Given the description of an element on the screen output the (x, y) to click on. 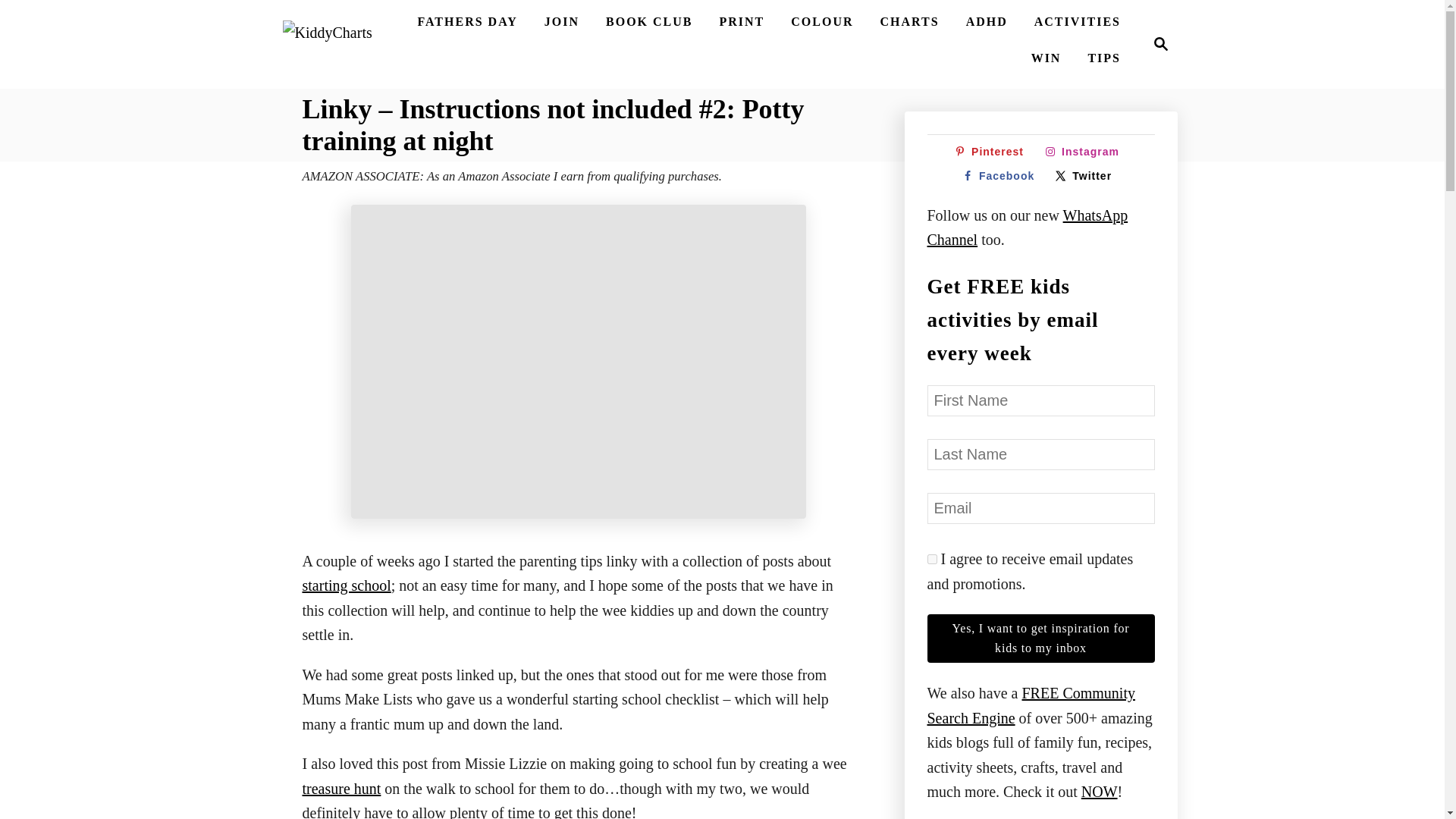
1 (931, 559)
CHARTS (909, 21)
ACTIVITIES (1077, 21)
Follow on Instagram (1086, 151)
JOIN (561, 21)
ADHD (986, 21)
FATHERS DAY (466, 21)
COLOUR (821, 21)
BOOK CLUB (1155, 43)
